Given the description of an element on the screen output the (x, y) to click on. 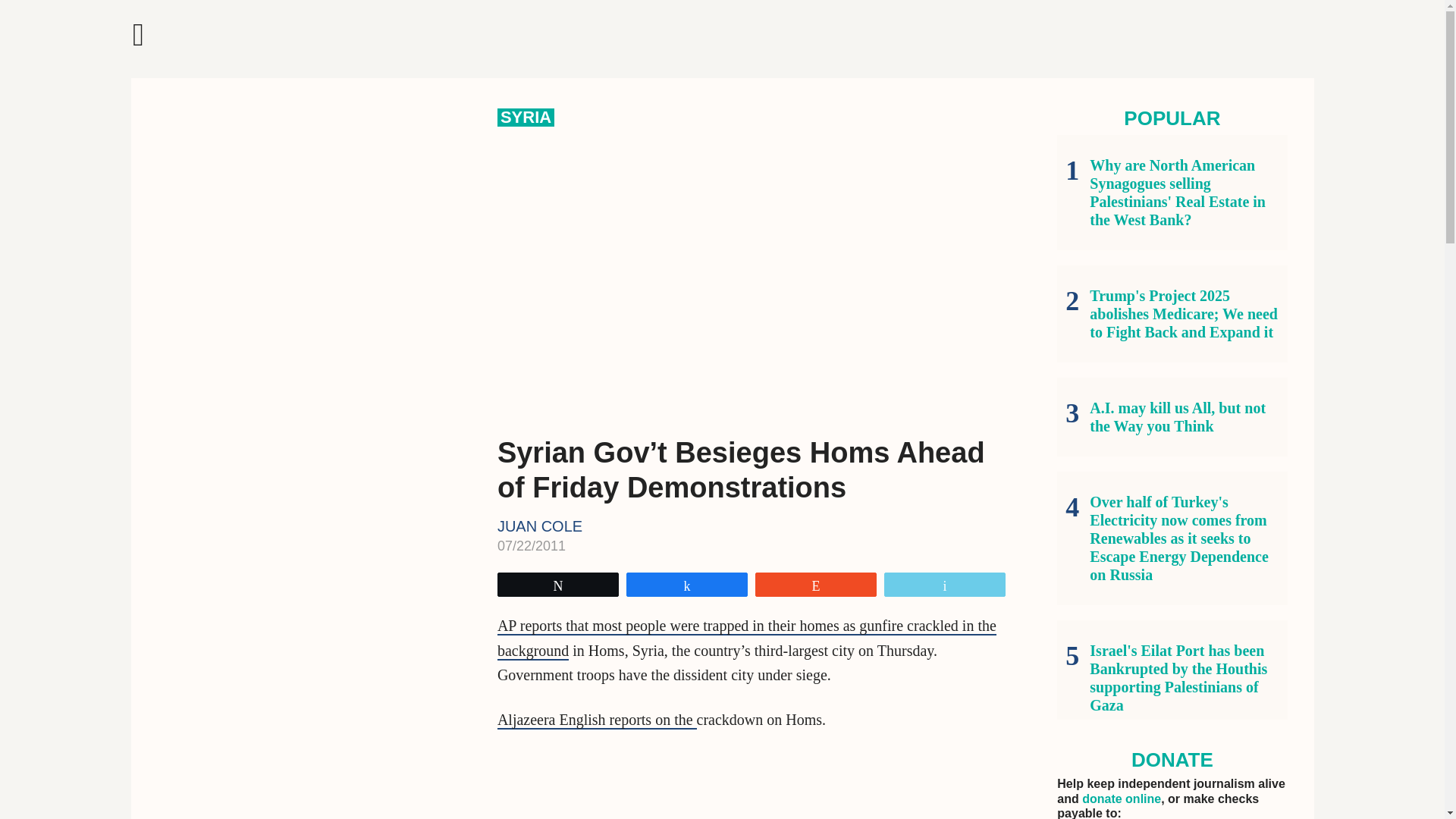
SYRIA (525, 117)
Aljazeera English reports on the (597, 720)
JUAN COLE (539, 525)
